Given the description of an element on the screen output the (x, y) to click on. 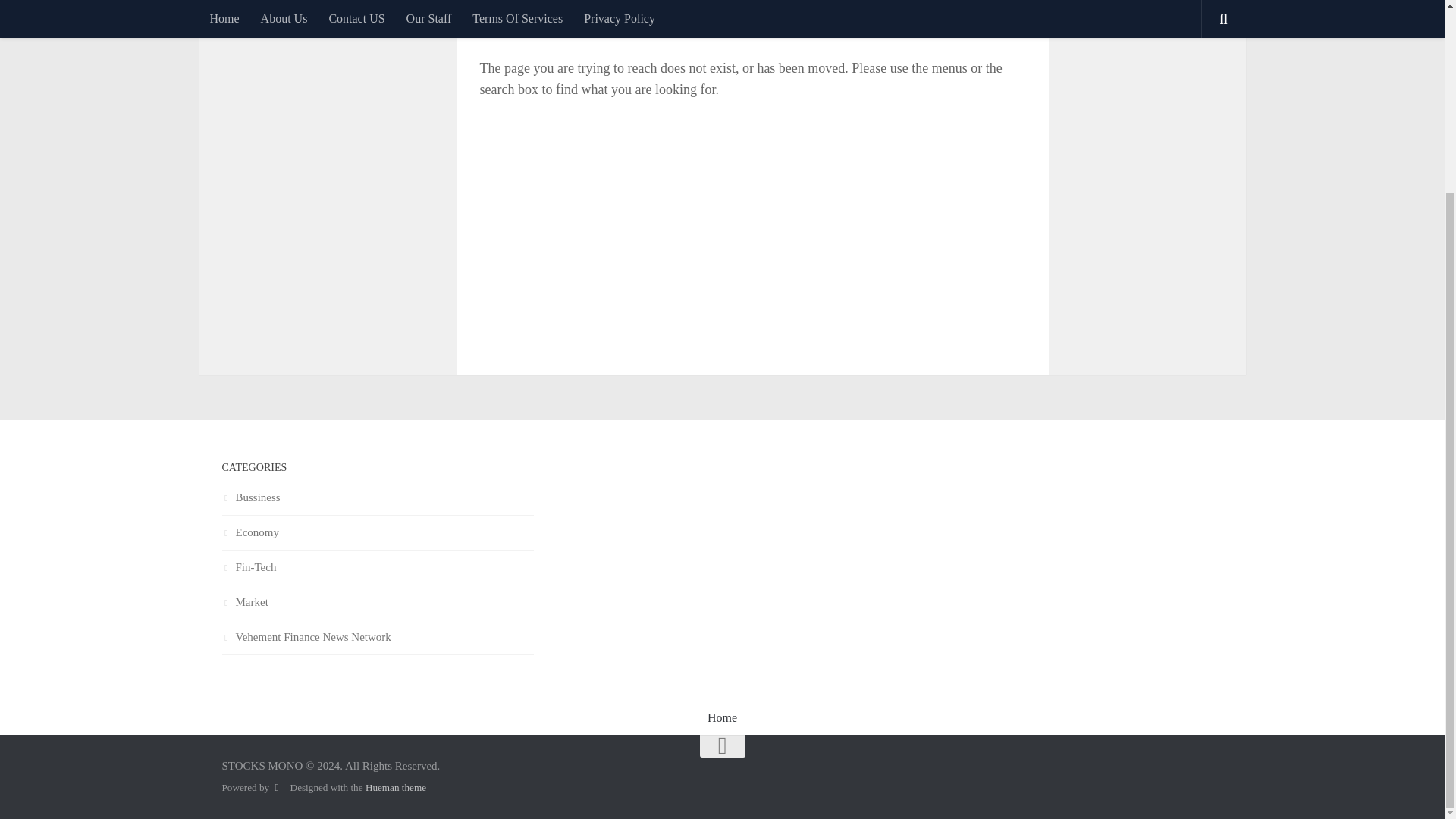
Powered by WordPress (275, 787)
Bussiness (250, 497)
Search (991, 12)
Economy (250, 532)
Market (244, 602)
Fin-Tech (248, 567)
Search (991, 12)
Hueman theme (395, 787)
Home (722, 717)
Vehement Finance News Network (305, 636)
